Given the description of an element on the screen output the (x, y) to click on. 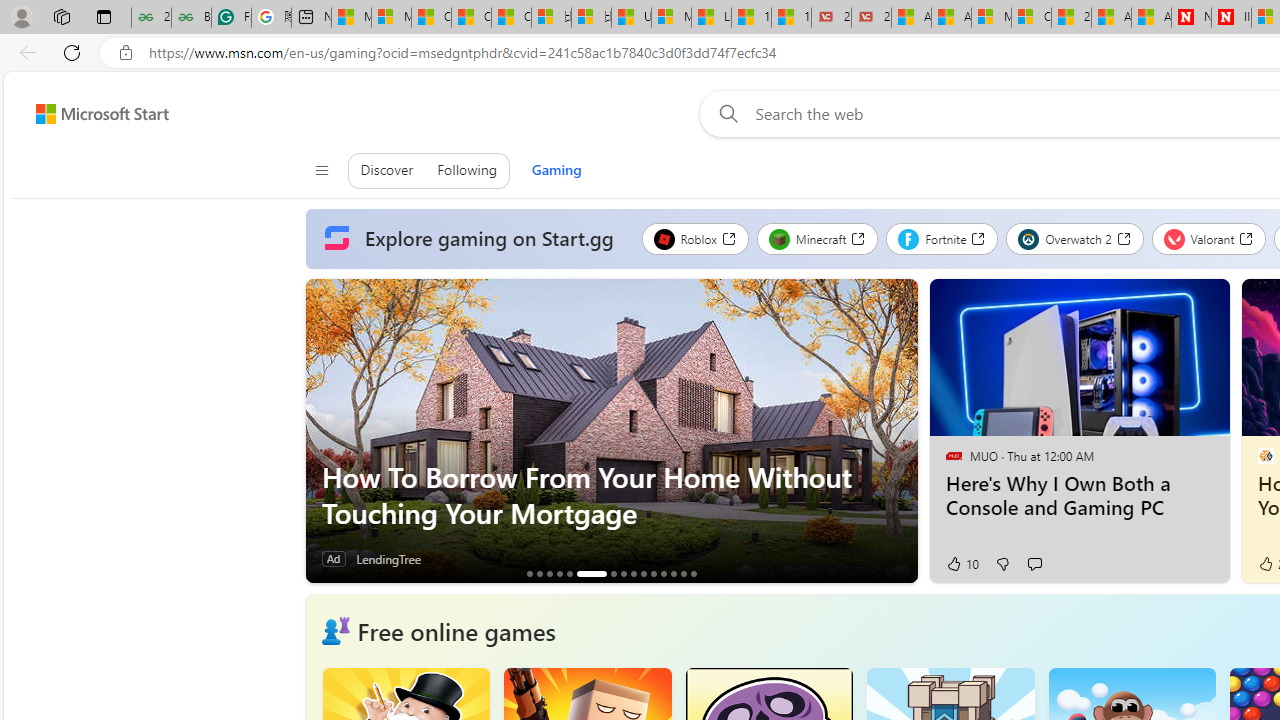
Starfield: How To Use Your Spaceship (663, 573)
Here's Why I Own Both a Console and Gaming PC (1078, 495)
Class: control icon-only (320, 170)
Minecraft (817, 238)
Valorant (1208, 238)
USA TODAY - MSN (631, 17)
25 Basic Linux Commands For Beginners - GeeksforGeeks (151, 17)
Previous slide (319, 431)
AutomationID: tab_nativead-resinfopane-6 (591, 573)
